Given the description of an element on the screen output the (x, y) to click on. 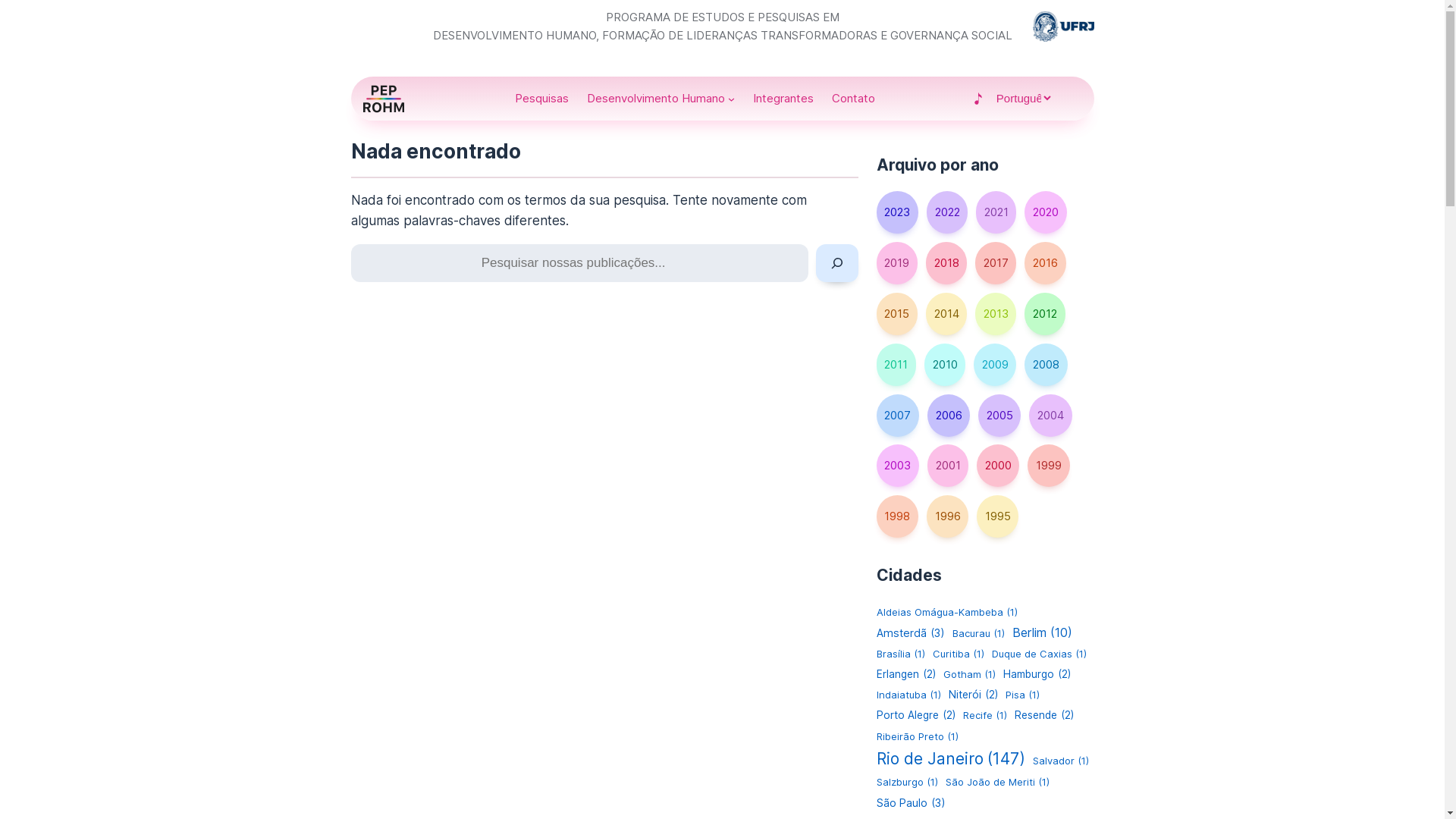
2012 Element type: text (1044, 313)
2016 Element type: text (1044, 262)
2011 Element type: text (896, 364)
Gotham (1) Element type: text (969, 674)
2014 Element type: text (945, 313)
2008 Element type: text (1045, 364)
Duque de Caxias (1) Element type: text (1038, 654)
2010 Element type: text (944, 364)
Desenvolvimento Humano Element type: text (655, 98)
2019 Element type: text (896, 262)
Porto Alegre (2) Element type: text (915, 715)
Integrantes Element type: text (783, 98)
1996 Element type: text (947, 516)
2013 Element type: text (995, 313)
2007 Element type: text (897, 415)
2001 Element type: text (947, 465)
Bacurau (1) Element type: text (978, 633)
Curitiba (1) Element type: text (958, 654)
2006 Element type: text (948, 415)
Pisa (1) Element type: text (1022, 694)
Recife (1) Element type: text (985, 715)
Indaiatuba (1) Element type: text (908, 694)
1999 Element type: text (1048, 465)
1998 Element type: text (897, 516)
2004 Element type: text (1050, 415)
Hamburgo (2) Element type: text (1036, 674)
Resende (2) Element type: text (1043, 715)
2009 Element type: text (994, 364)
2017 Element type: text (995, 262)
2020 Element type: text (1045, 212)
Erlangen (2) Element type: text (905, 674)
Contato Element type: text (853, 98)
Salzburgo (1) Element type: text (907, 782)
Berlim (10) Element type: text (1042, 633)
2018 Element type: text (945, 262)
2022 Element type: text (946, 212)
2015 Element type: text (896, 313)
Salvador (1) Element type: text (1060, 760)
2021 Element type: text (995, 212)
1995 Element type: text (997, 516)
2000 Element type: text (997, 465)
2005 Element type: text (999, 415)
2023 Element type: text (897, 212)
2003 Element type: text (897, 465)
Rio de Janeiro (147) Element type: text (950, 758)
